Given the description of an element on the screen output the (x, y) to click on. 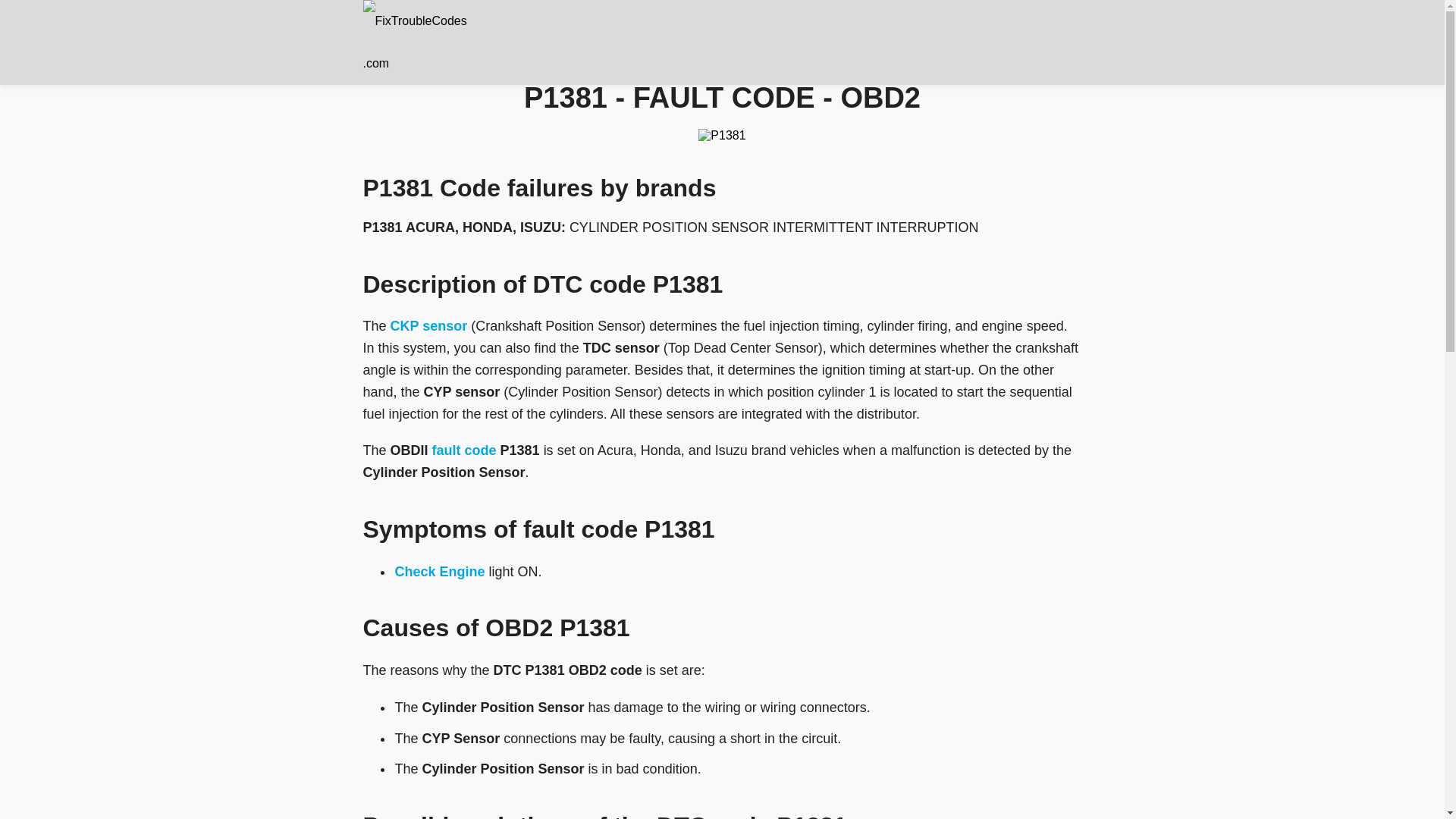
CKP sensor (430, 325)
Check Engine (440, 571)
fault code (464, 450)
